Given the description of an element on the screen output the (x, y) to click on. 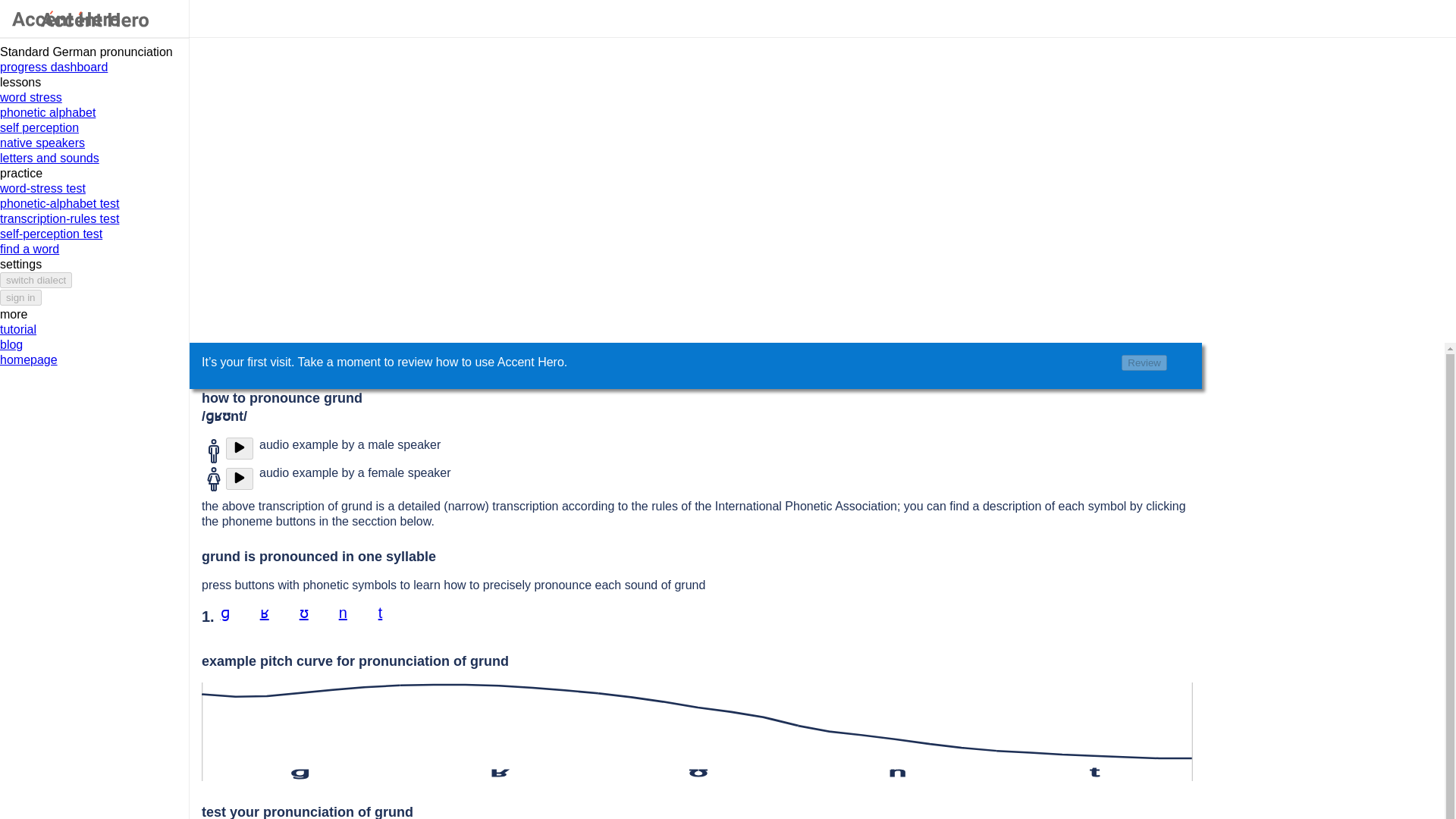
learn the common correspondences between letters and sounds (94, 158)
learn how to receive feedback from native speakers (94, 142)
Learn how to evaluate your accent (94, 127)
Learn how word stress influences your accent (94, 97)
Learn to precisely articulate each sound (94, 112)
